Given the description of an element on the screen output the (x, y) to click on. 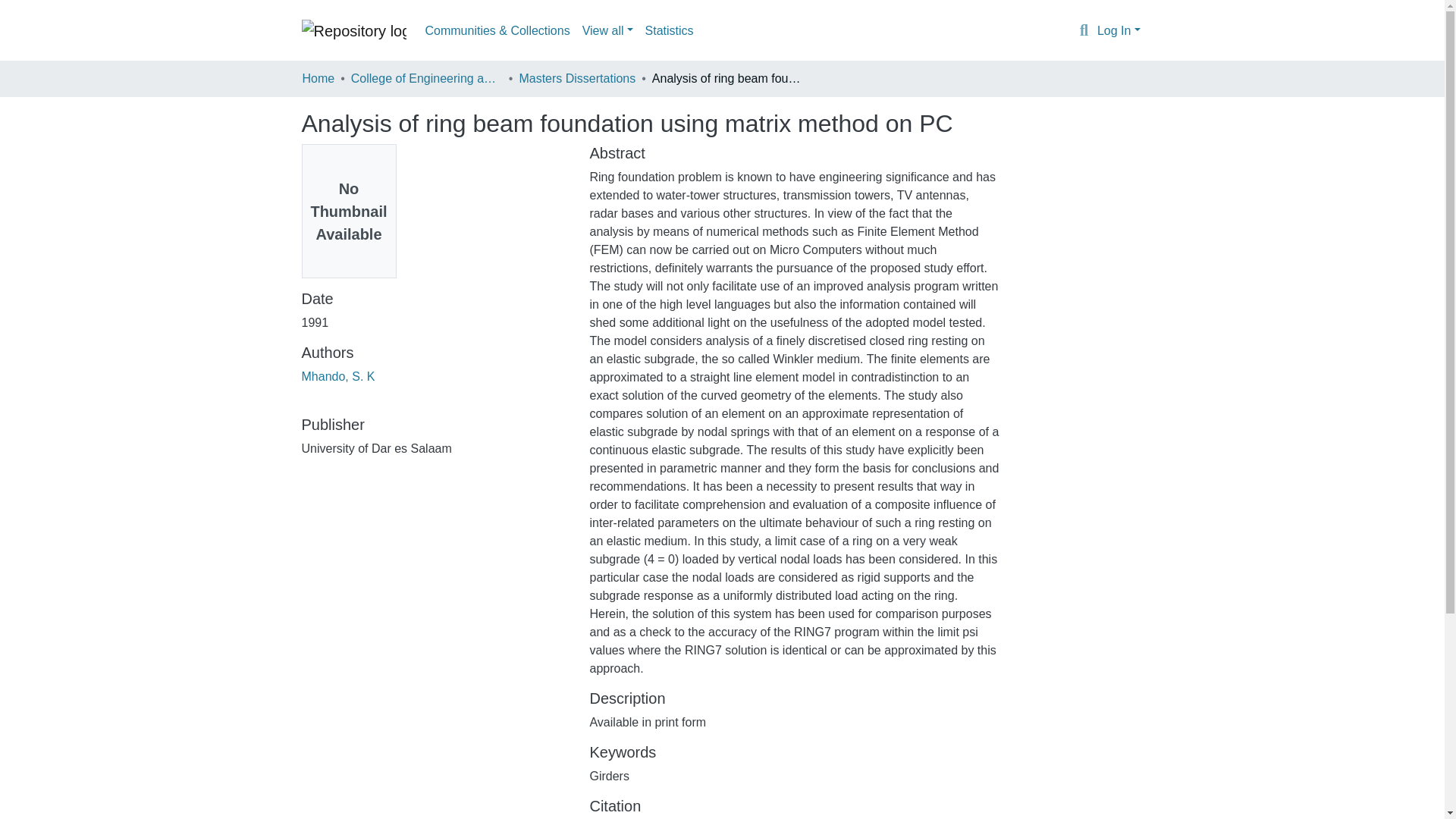
View all (607, 30)
Masters Dissertations (576, 78)
Statistics (669, 30)
Search (1084, 30)
Statistics (669, 30)
Home (317, 78)
College of Engineering and Technology (426, 78)
Mhando, S. K (338, 376)
Log In (1118, 30)
